Given the description of an element on the screen output the (x, y) to click on. 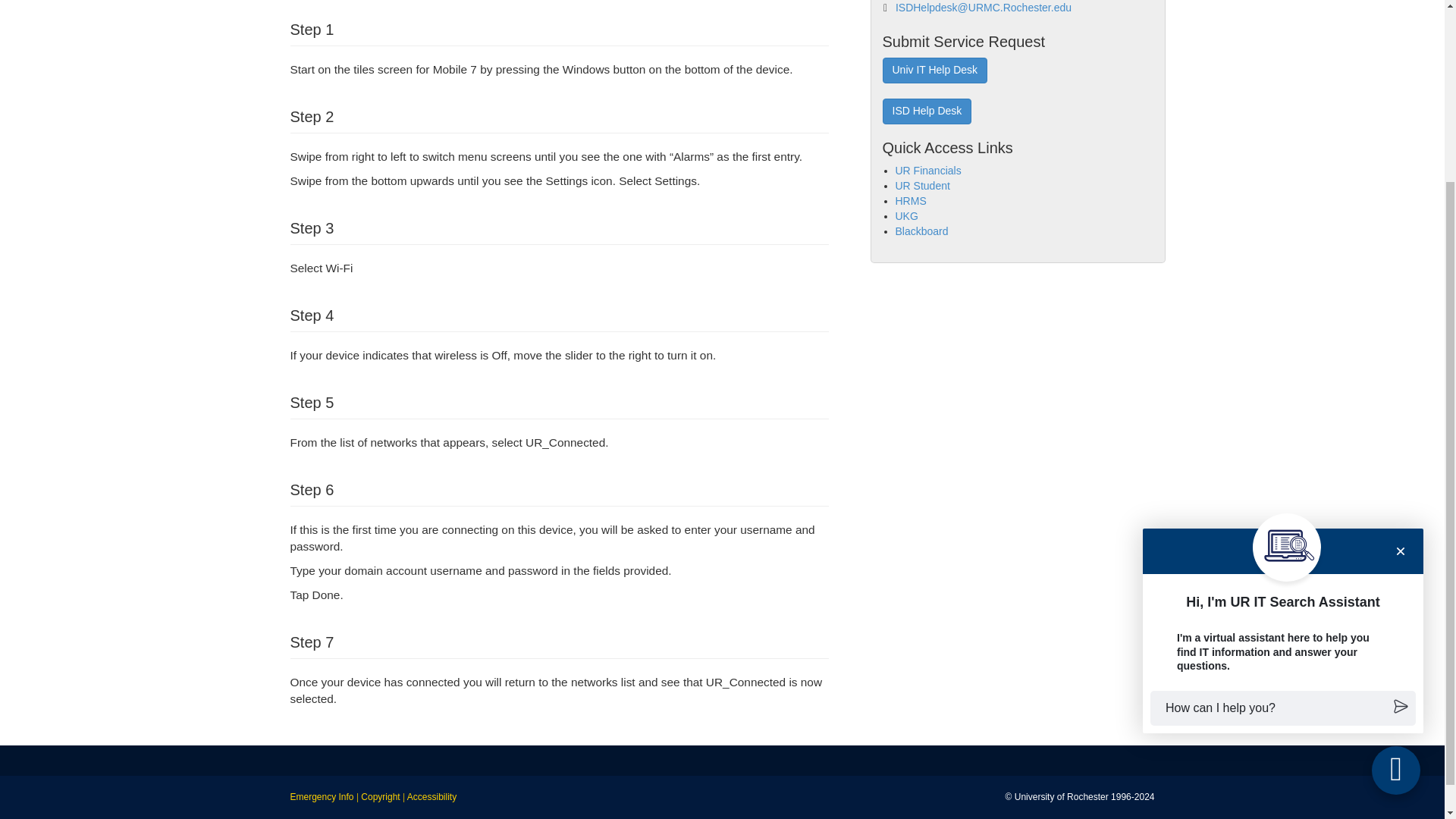
Log in to Service Portal for ISD Help Desk (927, 111)
Log in to Self Service for Univ IT Help Desk (935, 70)
University of Rochester Copyright (379, 796)
University of Rochester Accessibility (432, 796)
Email the ISD Help Desk (983, 7)
University of Rochester Emergency Info (321, 796)
Univ IT Help Desk (935, 70)
ISD Help Desk (927, 111)
